Given the description of an element on the screen output the (x, y) to click on. 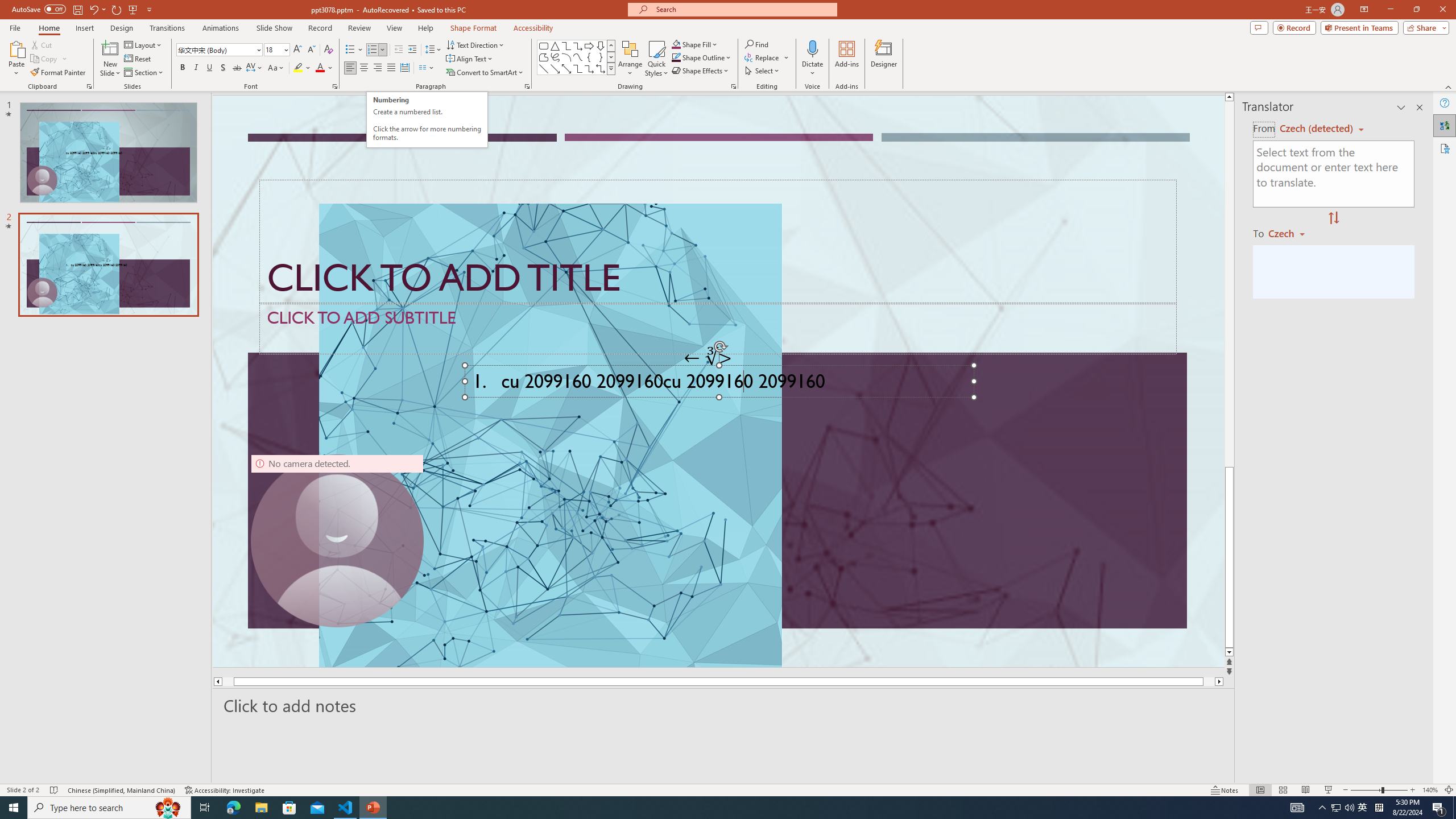
Rectangle: Rounded Corners (543, 45)
Shape Format (473, 28)
Shadow (223, 67)
Row Down (611, 56)
Increase Font Size (297, 49)
Page up (1229, 192)
